Given the description of an element on the screen output the (x, y) to click on. 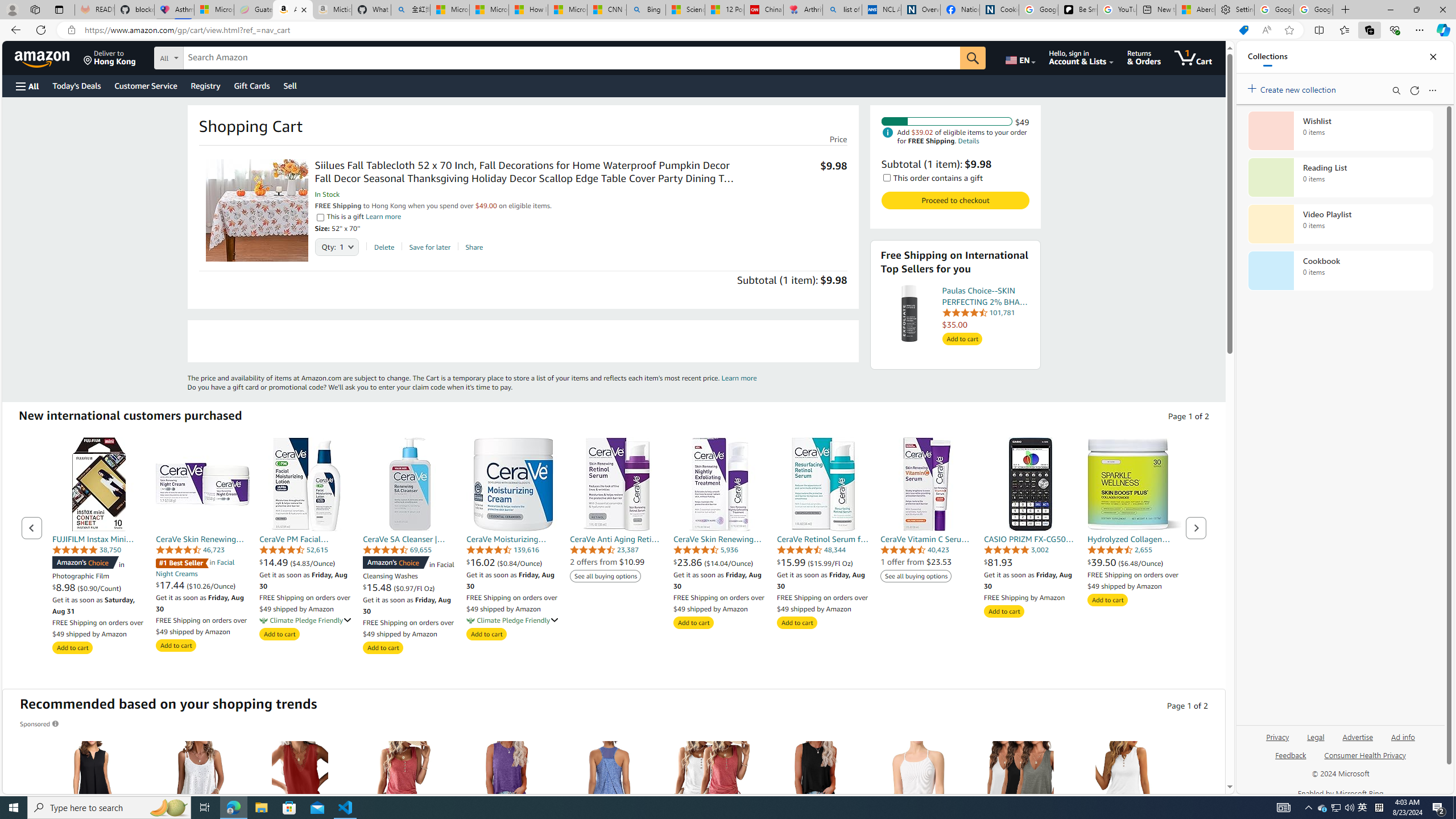
($0.97/Fl Oz) (414, 587)
2 offers from $10.99 (607, 561)
Advertise (1357, 736)
Gift Cards (251, 85)
list of asthma inhalers uk - Search (842, 9)
